Given the description of an element on the screen output the (x, y) to click on. 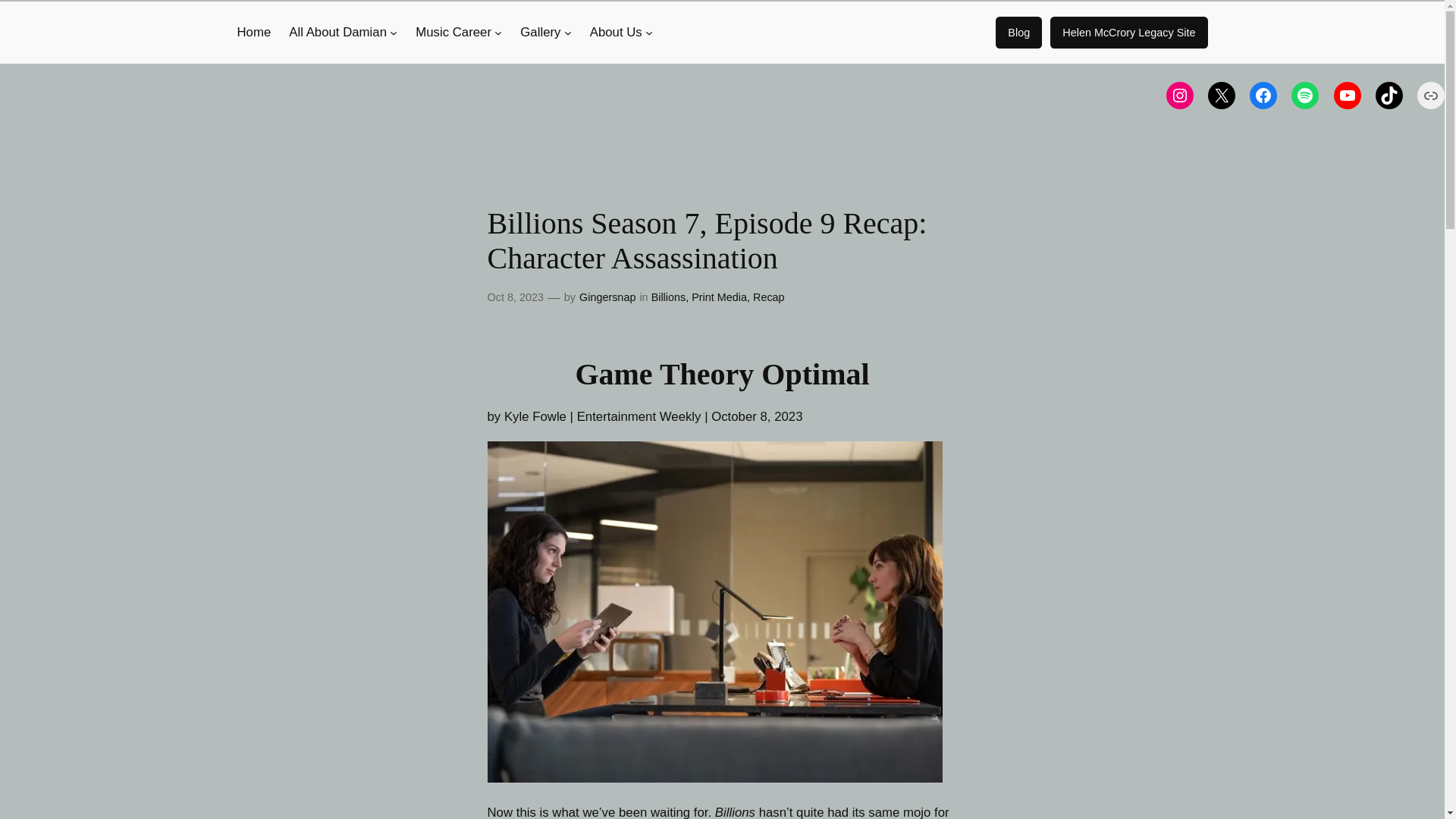
All About Damian (337, 32)
Home (252, 32)
Gallery (539, 32)
About Us (615, 32)
Music Career (453, 32)
